Given the description of an element on the screen output the (x, y) to click on. 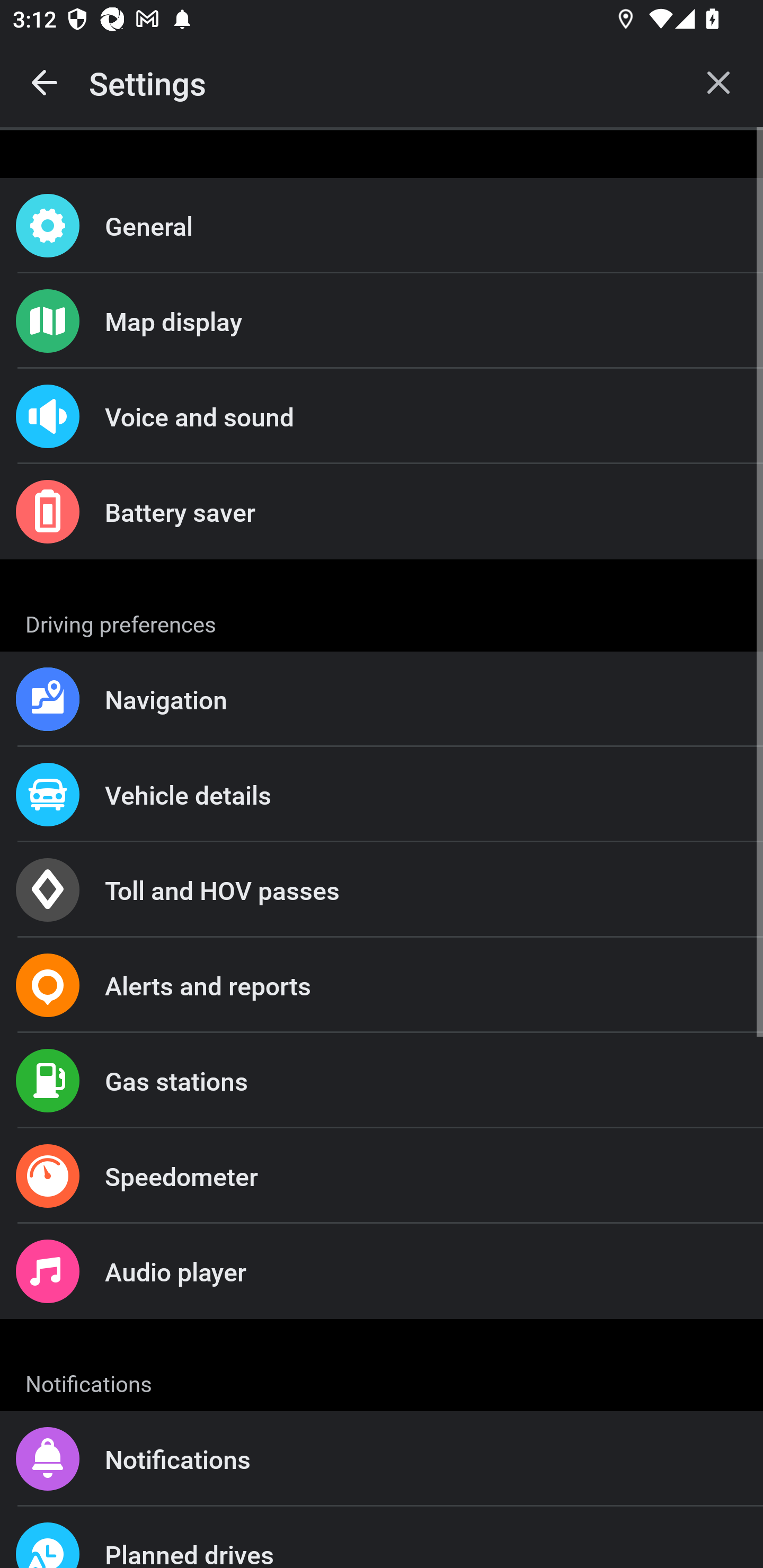
General (381, 225)
Map display (381, 320)
Voice and sound (381, 416)
Battery saver (381, 511)
ACTION_CELL_ICON Settings ACTION_CELL_TEXT (381, 620)
Navigation (381, 699)
ACTION_CELL_ICON Shut off ACTION_CELL_TEXT (381, 891)
Alerts and reports (381, 985)
Gas stations (381, 1080)
Speedometer (381, 1175)
Audio player (381, 1270)
Notifications (381, 1458)
Planned drives (381, 1537)
